Given the description of an element on the screen output the (x, y) to click on. 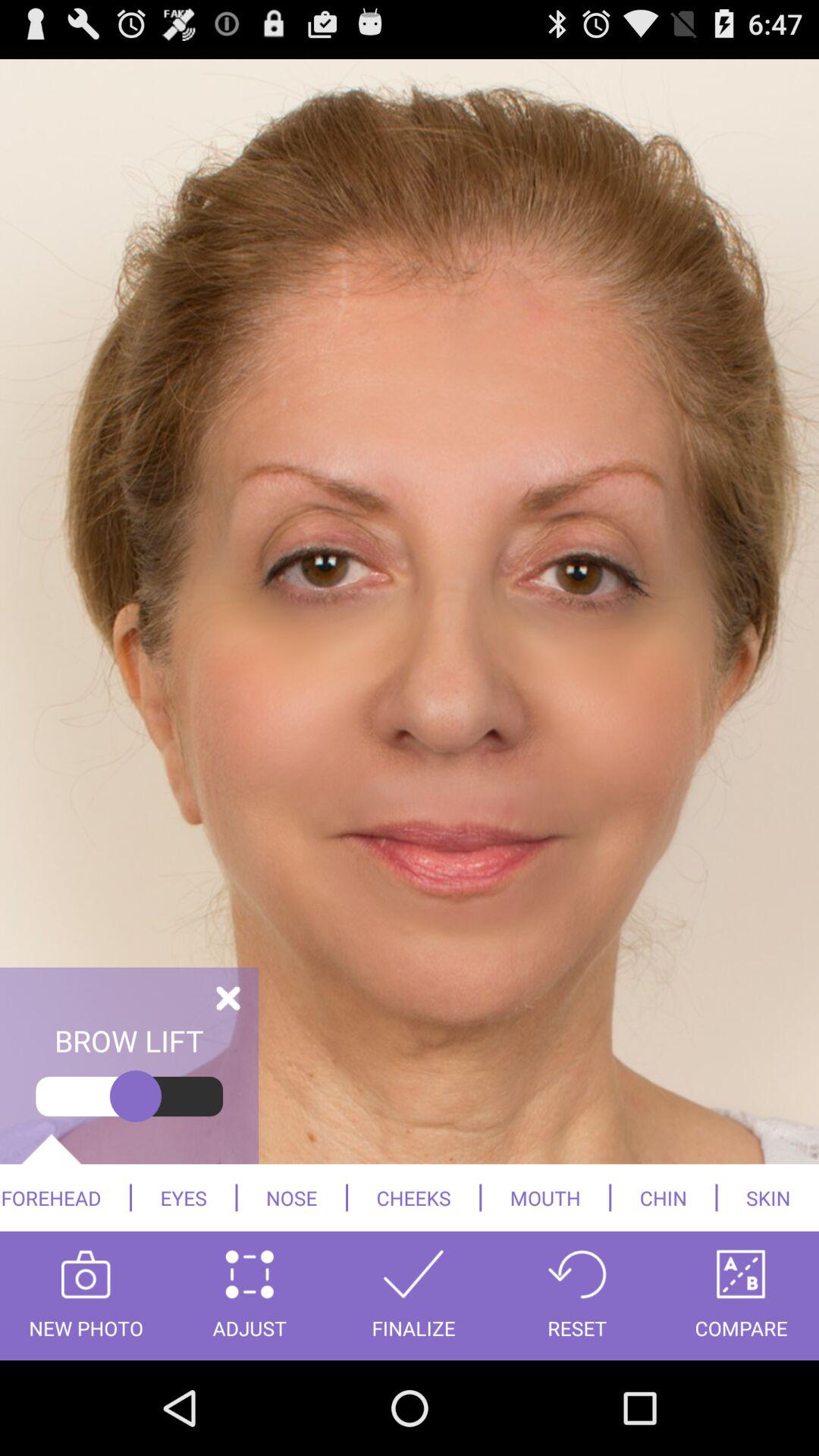
swipe to skin app (768, 1197)
